Given the description of an element on the screen output the (x, y) to click on. 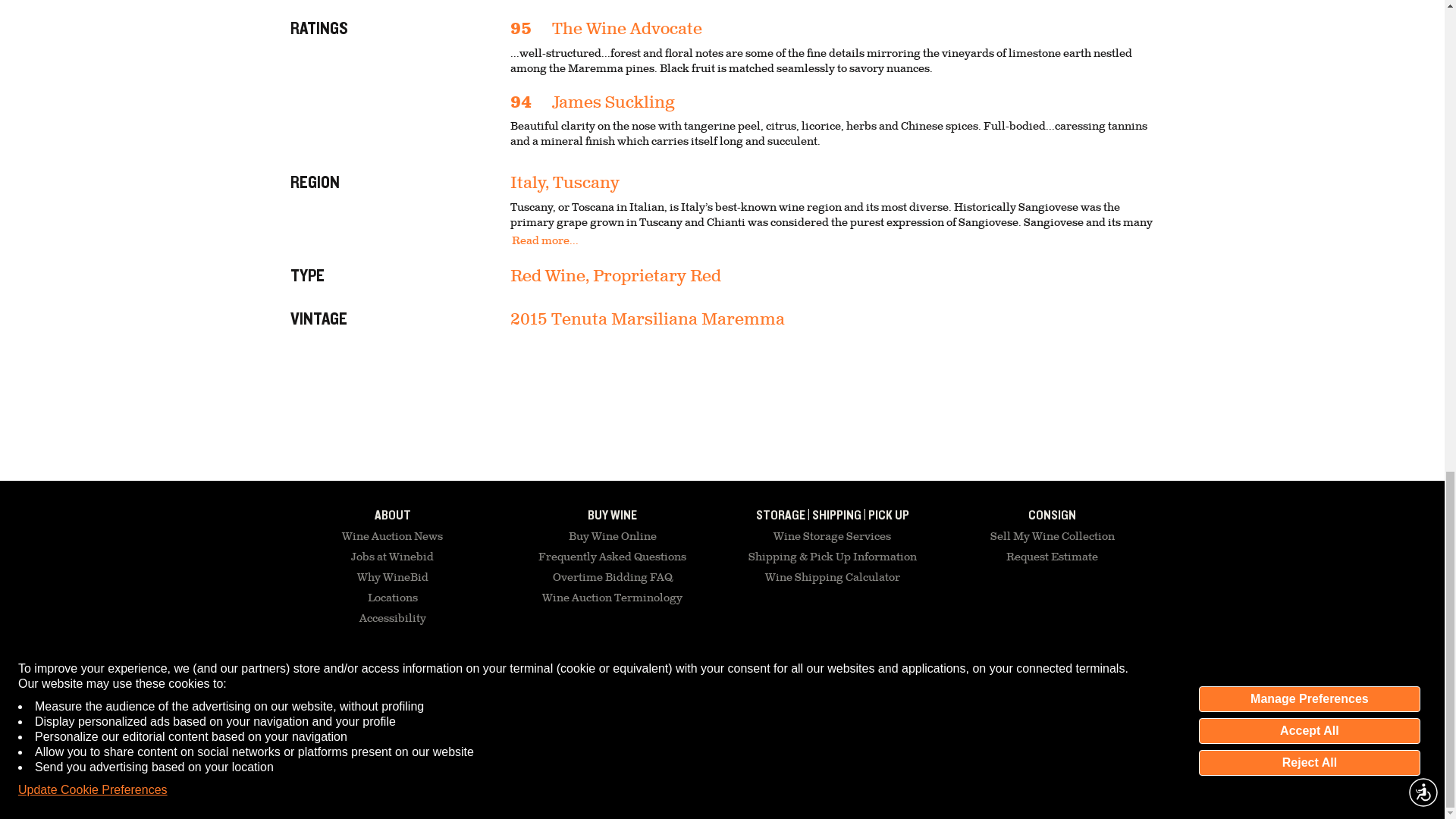
Download on the App Store (985, 688)
Download on the App Store (898, 688)
Email (359, 683)
Call WineBid about selling or buying fine wine. (504, 683)
